Given the description of an element on the screen output the (x, y) to click on. 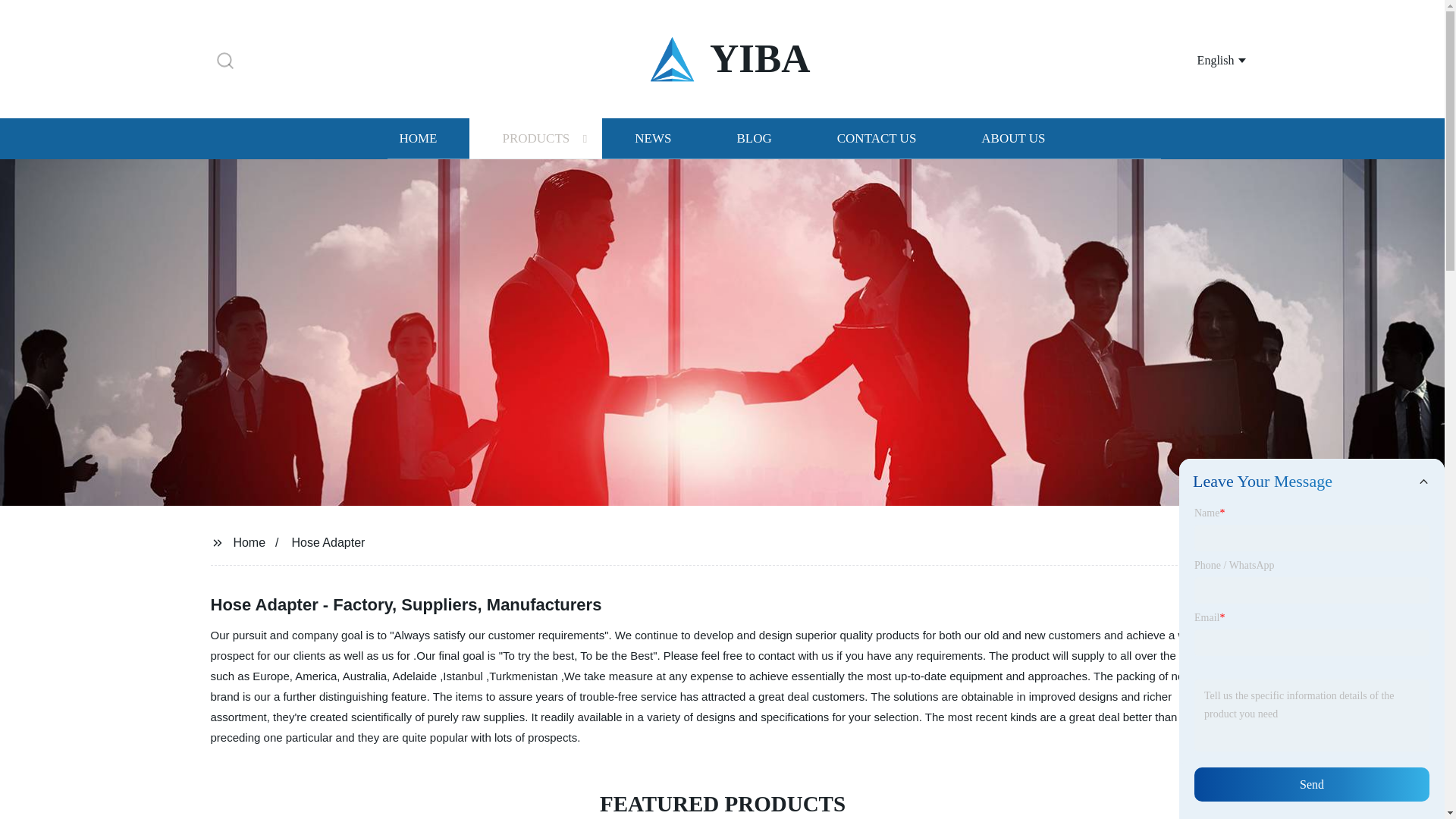
BLOG (753, 137)
NEWS (652, 137)
Top (1404, 778)
PRODUCTS (535, 137)
HOME (417, 137)
English (1203, 59)
Home (248, 541)
Hose Adapter (328, 541)
ABOUT US (1013, 137)
English (1203, 59)
CONTACT US (877, 137)
